Given the description of an element on the screen output the (x, y) to click on. 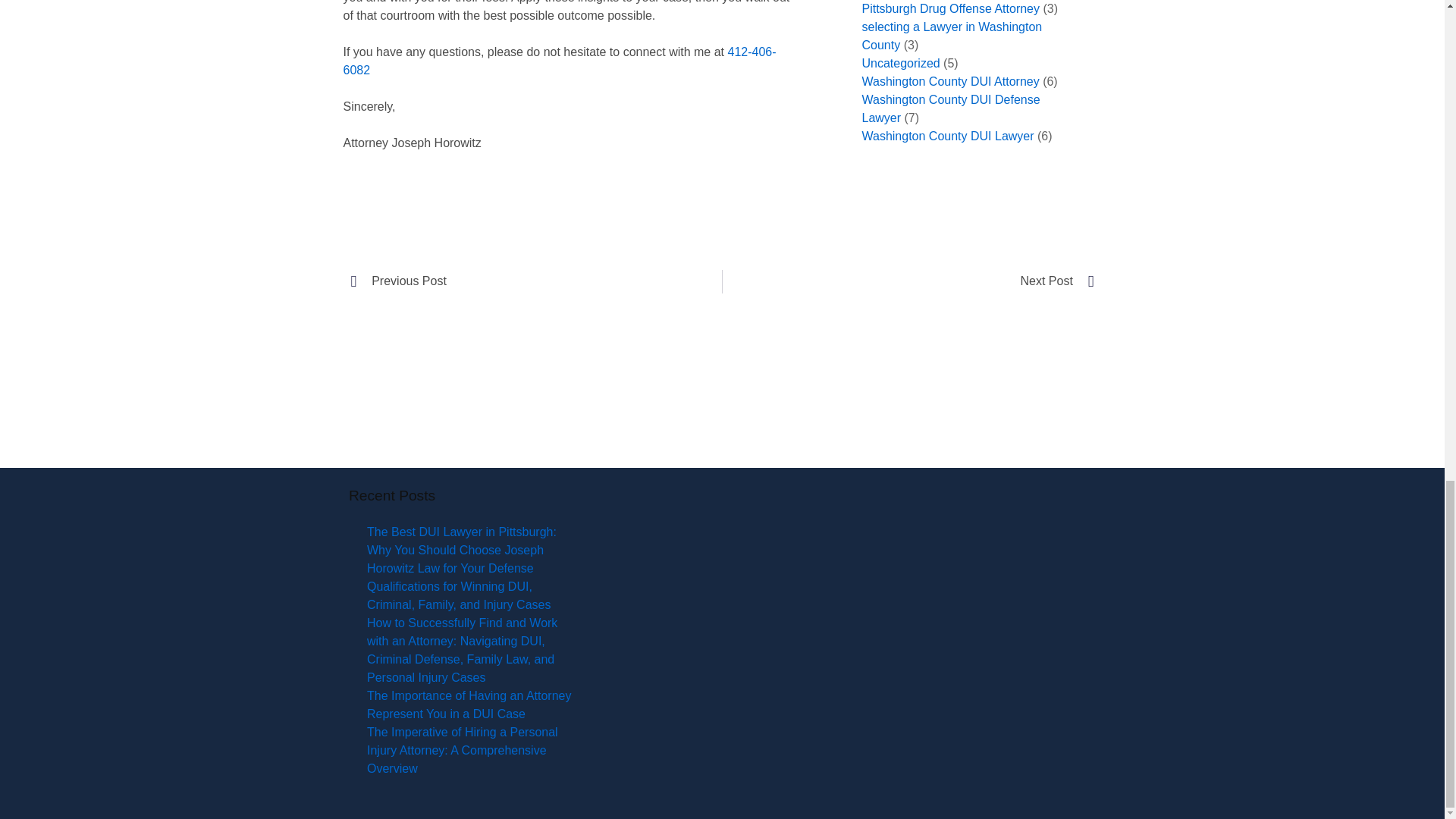
Washington County DUI Lawyer (947, 135)
Washington County DUI Attorney (950, 81)
412-406-6082 (559, 60)
Uncategorized (900, 62)
Washington County DUI Defense Lawyer (950, 108)
selecting a Lawyer in Washington County (951, 35)
Pittsburgh Drug Offense Attorney (950, 8)
